Given the description of an element on the screen output the (x, y) to click on. 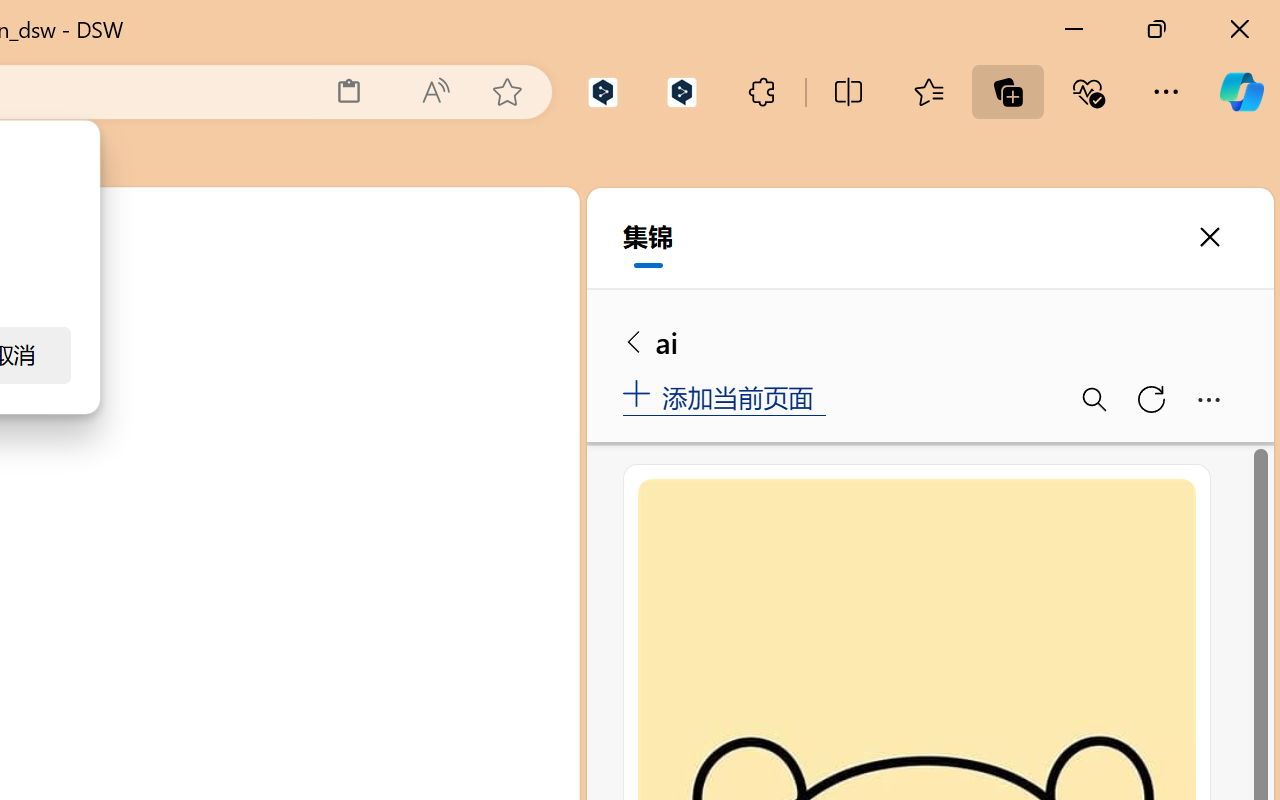
Views and More Actions... (442, 357)
Launch Profile... (401, 357)
Toggle Panel (Ctrl+J) (461, 294)
Toggle Primary Side Bar (Ctrl+B) (413, 294)
icon (436, 224)
Terminal 2 bash (470, 448)
Class: next-menu next-hoz widgets--iconMenu--BFkiHRM (436, 225)
